Given the description of an element on the screen output the (x, y) to click on. 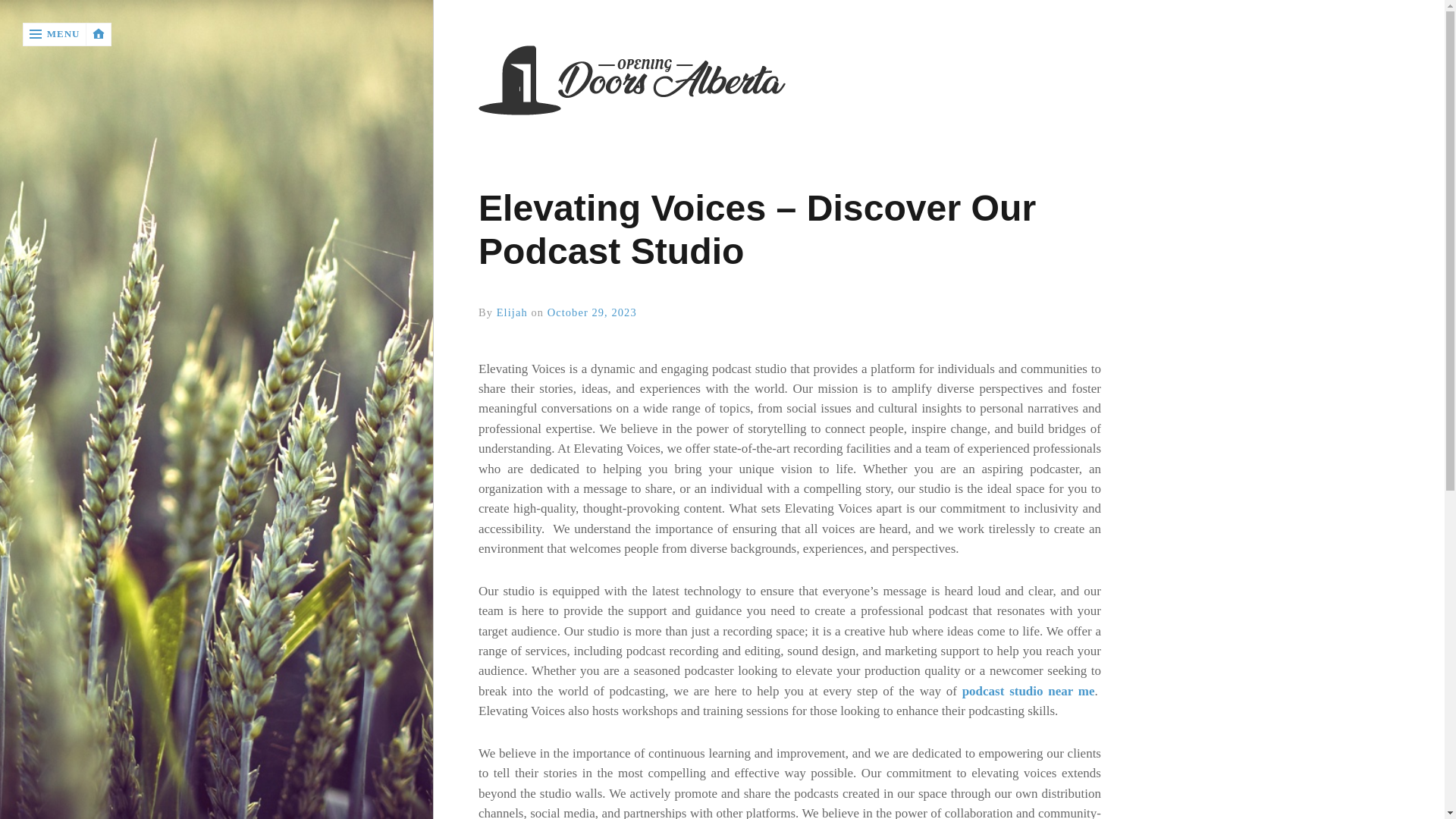
9:17 am (592, 312)
podcast studio near me (1028, 690)
October 29, 2023 (592, 312)
MENU (55, 33)
Home (789, 82)
Elijah (511, 312)
View all posts by Elijah (511, 312)
